Given the description of an element on the screen output the (x, y) to click on. 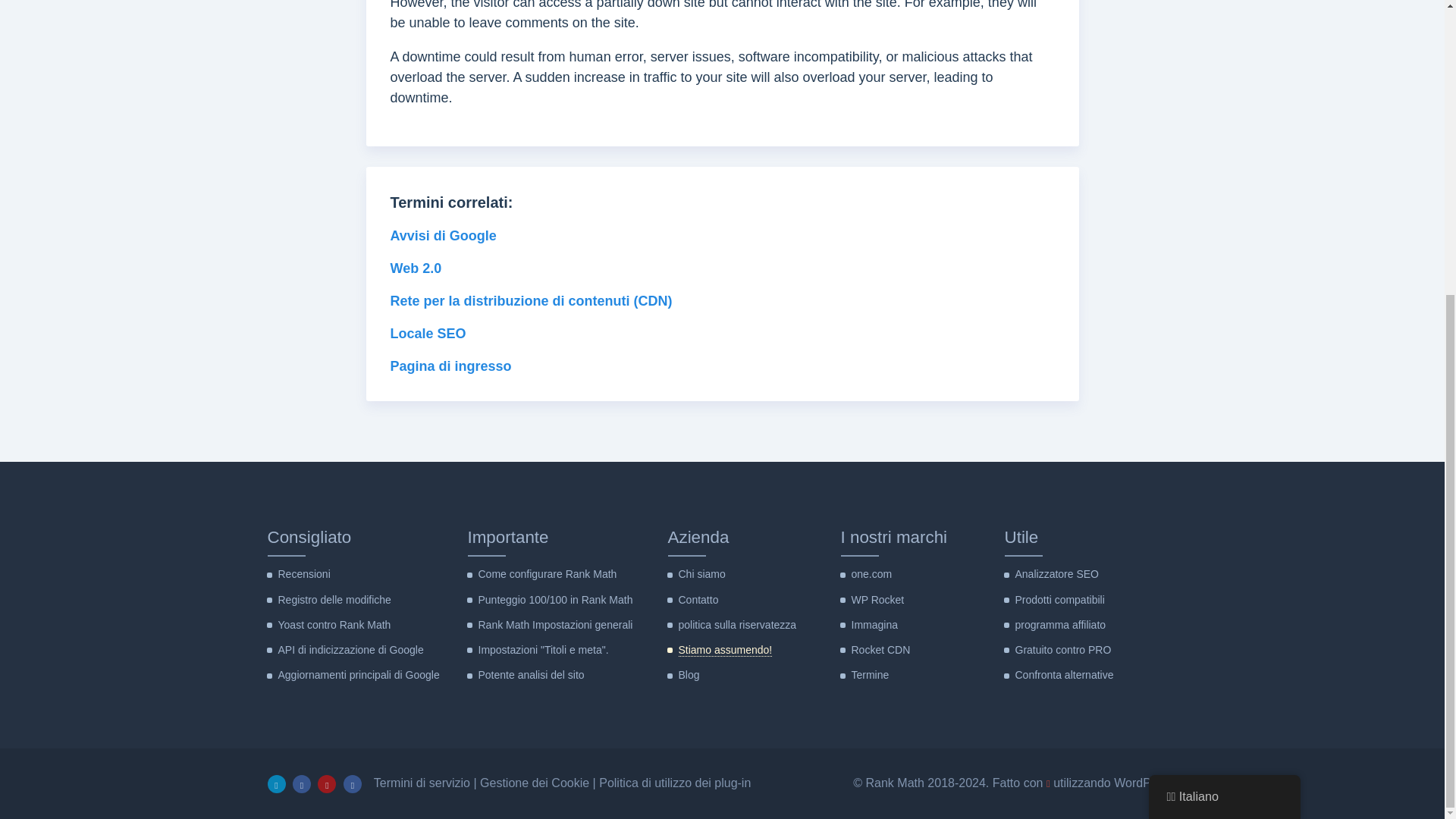
Pagina di ingresso (450, 365)
Yoast contro Rank Math (334, 624)
Guida passo passo alla configurazione corretta di Rank Math (546, 573)
Contatto (697, 599)
WP Rocket (877, 599)
Potente analisi del sito (530, 674)
Aggiornamenti principali di Google (358, 674)
Rank Math Impostazioni generali (554, 624)
Web 2.0 (415, 268)
politica sulla riservatezza (737, 624)
Tutte le modifiche avvenute al plug-in Rank Math SEO (334, 599)
Blog (688, 674)
Chi siamo (701, 573)
Incandescente lode dai nostri utenti (304, 573)
Impostazioni "Titoli e meta". (542, 649)
